Given the description of an element on the screen output the (x, y) to click on. 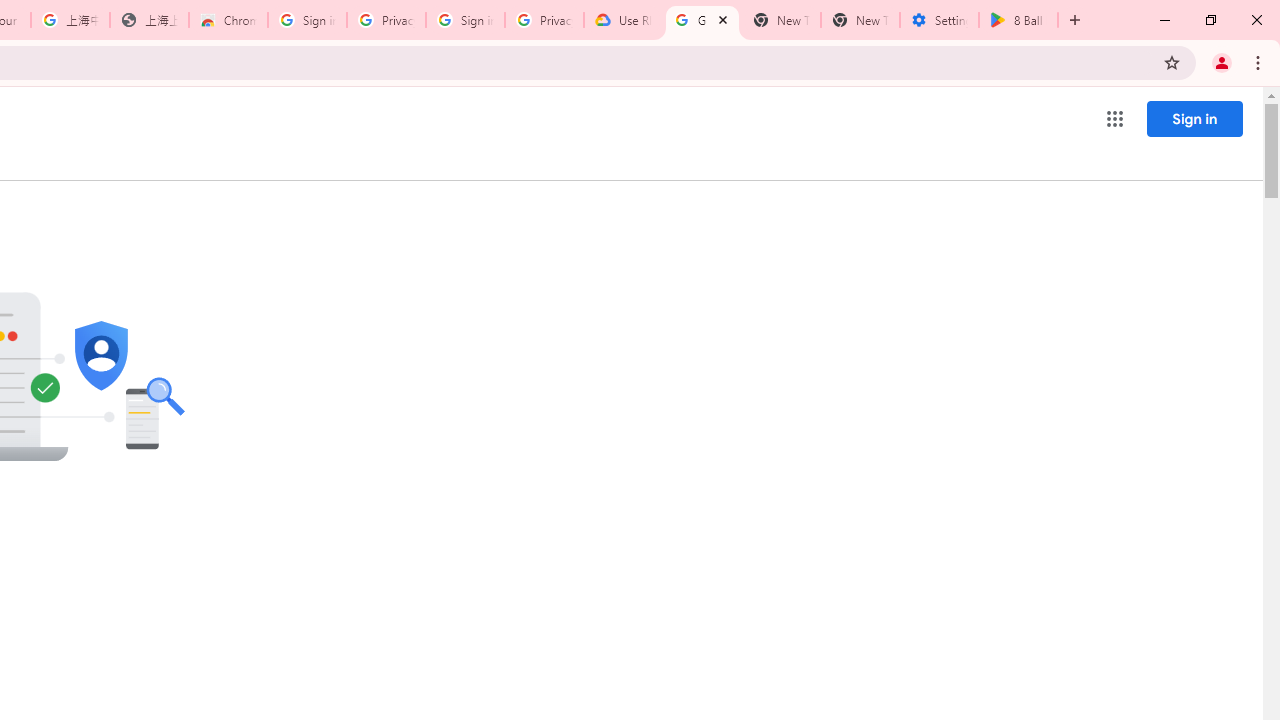
Settings - System (939, 20)
